Given the description of an element on the screen output the (x, y) to click on. 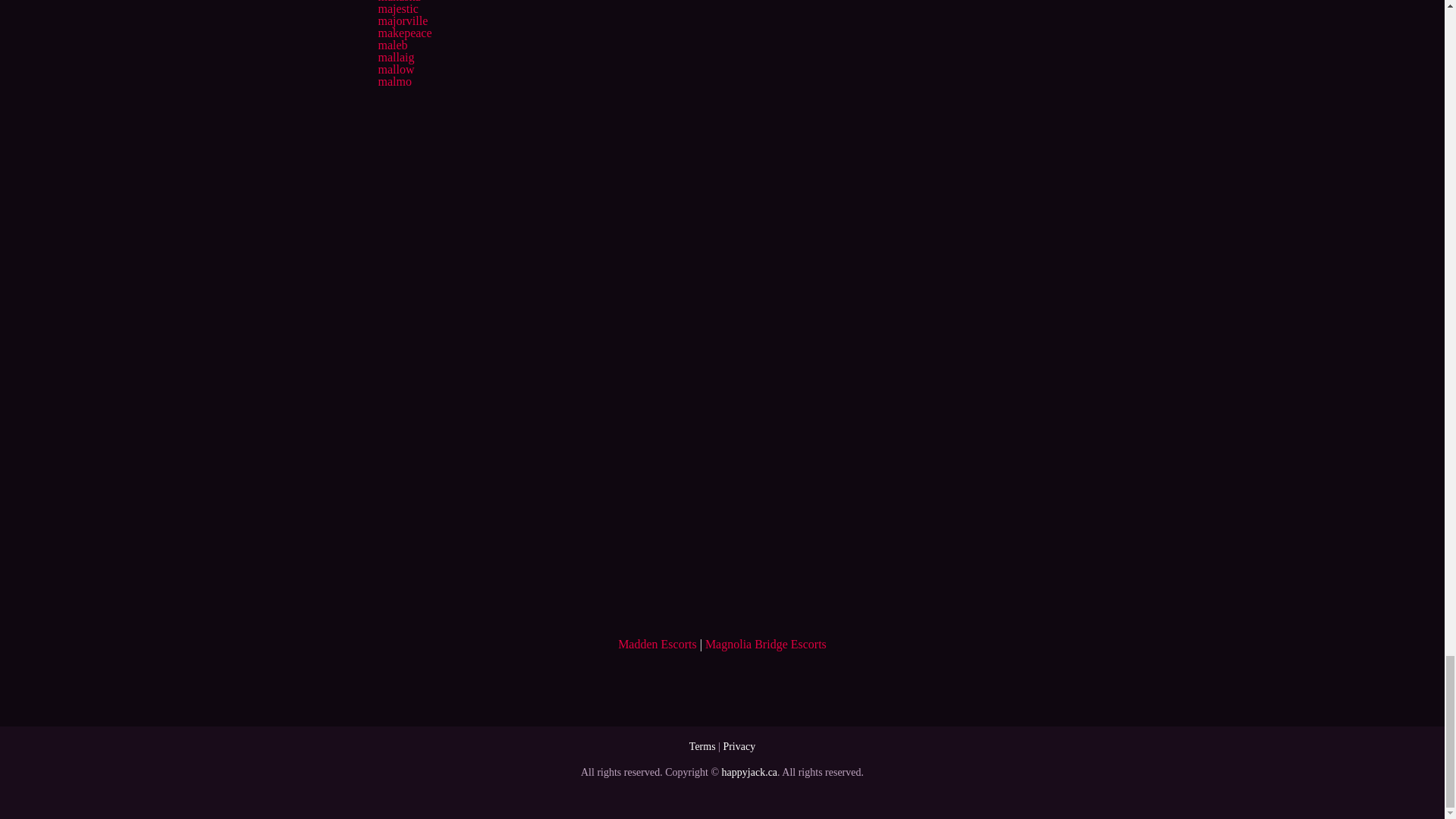
majestic (397, 8)
maleb (392, 44)
Privacy (738, 746)
Madden Escorts (657, 644)
mallaig (395, 56)
Terms (702, 746)
Privacy (738, 746)
Terms (702, 746)
Magnolia Bridge Escorts (765, 644)
malmo (393, 81)
mahaska (398, 1)
happyjack.ca (749, 772)
makepeace (403, 32)
majorville (402, 20)
mallow (395, 69)
